Given the description of an element on the screen output the (x, y) to click on. 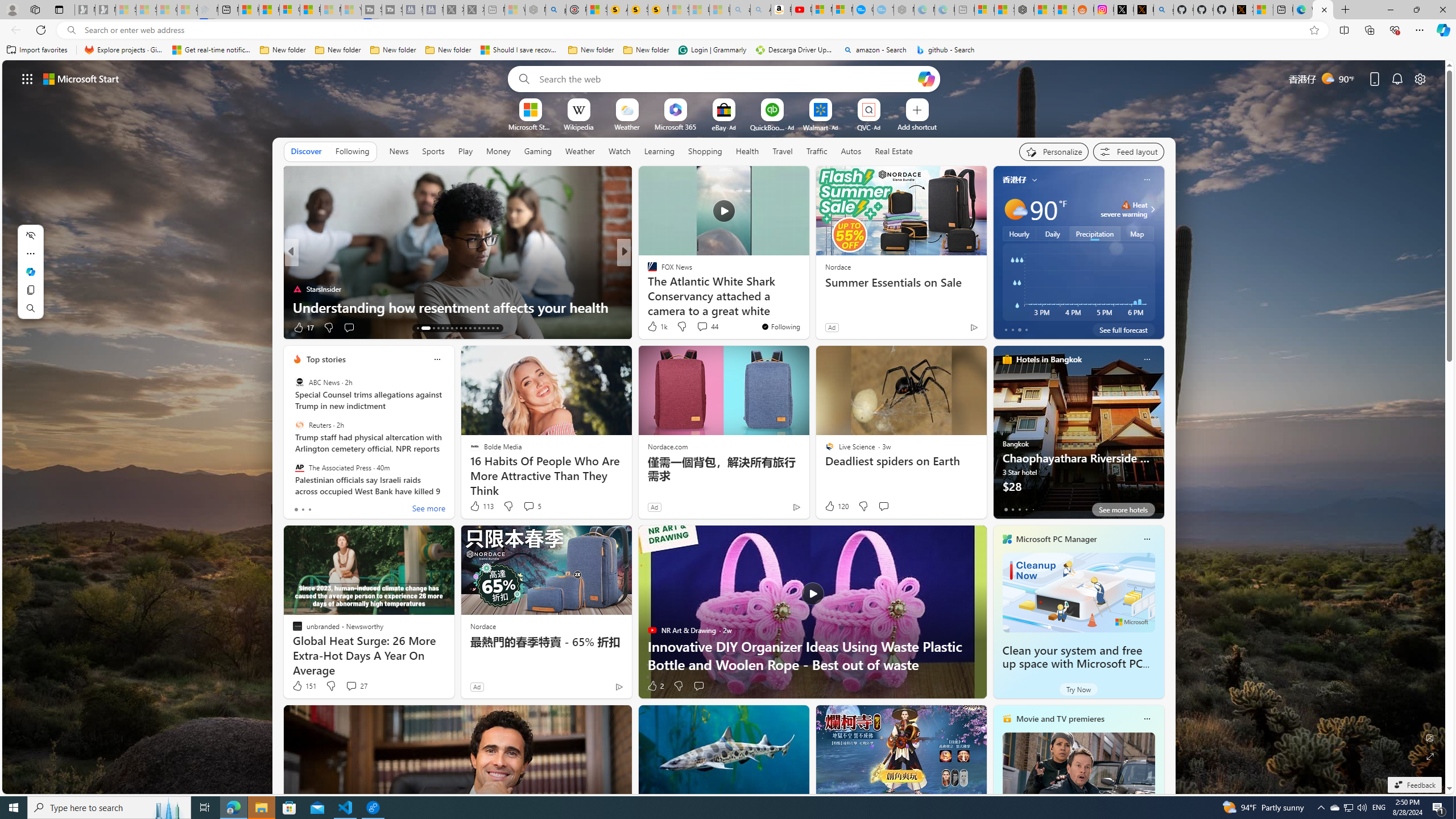
Extraordinary Gift Idea for Birthday & Christmas (807, 307)
Day 1: Arriving in Yemen (surreal to be here) - YouTube (801, 9)
View comments 44 Comment (701, 326)
The most popular Google 'how to' searches - Sleeping (882, 9)
Nordace - Summer Adventures 2024 - Sleeping (534, 9)
151 Like (303, 685)
Shopping (705, 151)
Page settings (1420, 78)
Click to see more information (1150, 208)
See more hotels (1123, 509)
View comments 2 Comment (702, 327)
Learning (659, 151)
